Given the description of an element on the screen output the (x, y) to click on. 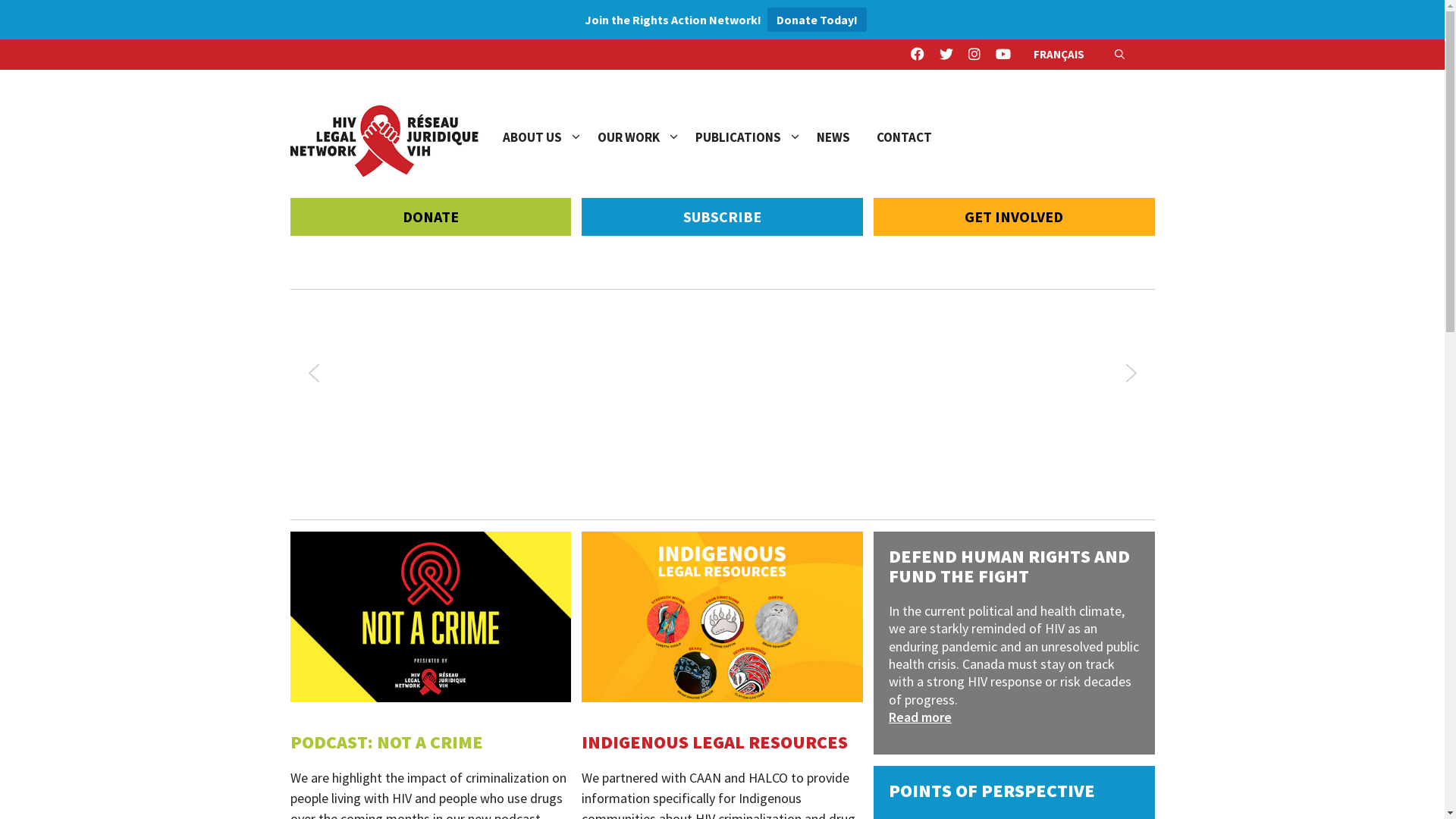
DONATE Element type: text (430, 216)
NEWS Element type: text (845, 136)
GET INVOLVED Element type: text (1013, 216)
POINTS OF PERSPECTIVE Element type: text (991, 789)
INDIGENOUS LEGAL RESOURCES Element type: text (714, 741)
DEFEND HUMAN RIGHTS AND FUND THE FIGHT Element type: text (1008, 565)
CONTACT Element type: text (917, 136)
PODCAST: NOT A CRIME Element type: text (385, 741)
Donate Today! Element type: text (816, 19)
ABOUT US Element type: text (549, 136)
Read more Element type: text (1013, 716)
PUBLICATIONS Element type: text (754, 136)
SUBSCRIBE Element type: text (721, 216)
OUR WORK Element type: text (646, 136)
